Given the description of an element on the screen output the (x, y) to click on. 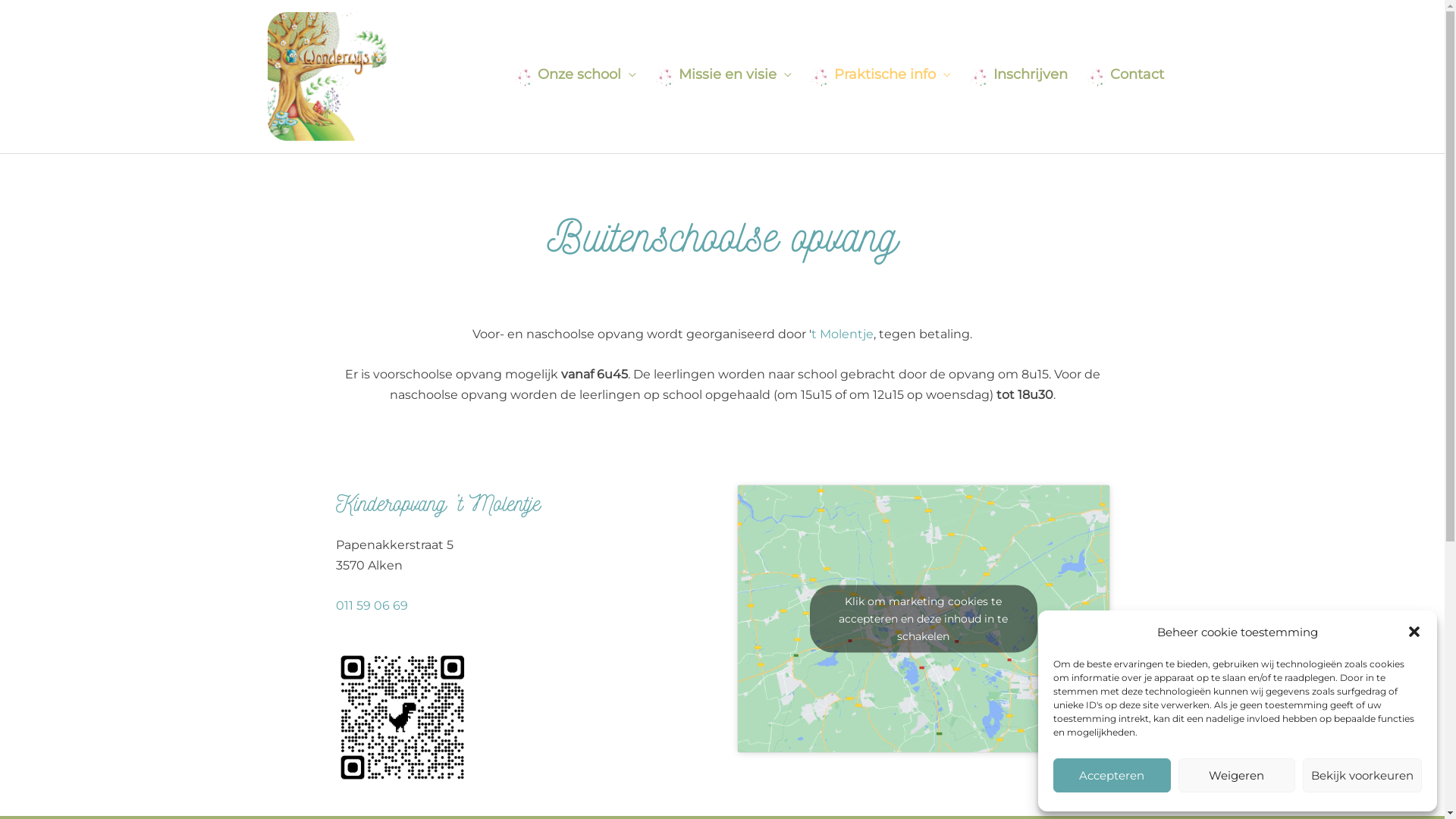
Inschrijven Element type: text (1030, 74)
Bekijk voorkeuren Element type: text (1361, 775)
011 59 06 69 Element type: text (371, 605)
Schermafbeelding 2022-02-10 om 12.41.56 Element type: hover (401, 717)
Weigeren Element type: text (1236, 775)
Praktische info Element type: text (892, 74)
Onze school Element type: text (586, 74)
Accepteren Element type: text (1111, 775)
Missie en visie Element type: text (734, 74)
Contact Element type: text (1136, 74)
t Molentje Element type: text (842, 333)
